Given the description of an element on the screen output the (x, y) to click on. 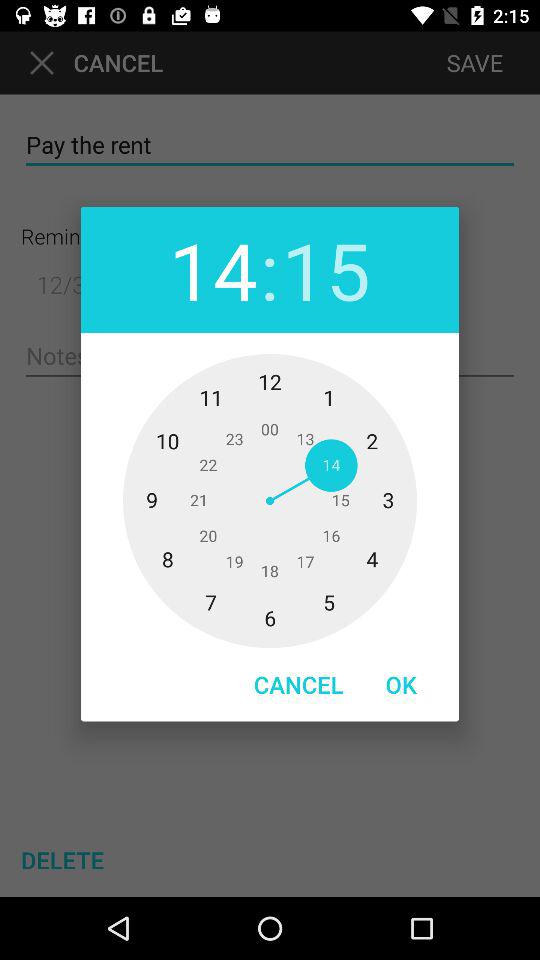
swipe until 15 icon (325, 269)
